Given the description of an element on the screen output the (x, y) to click on. 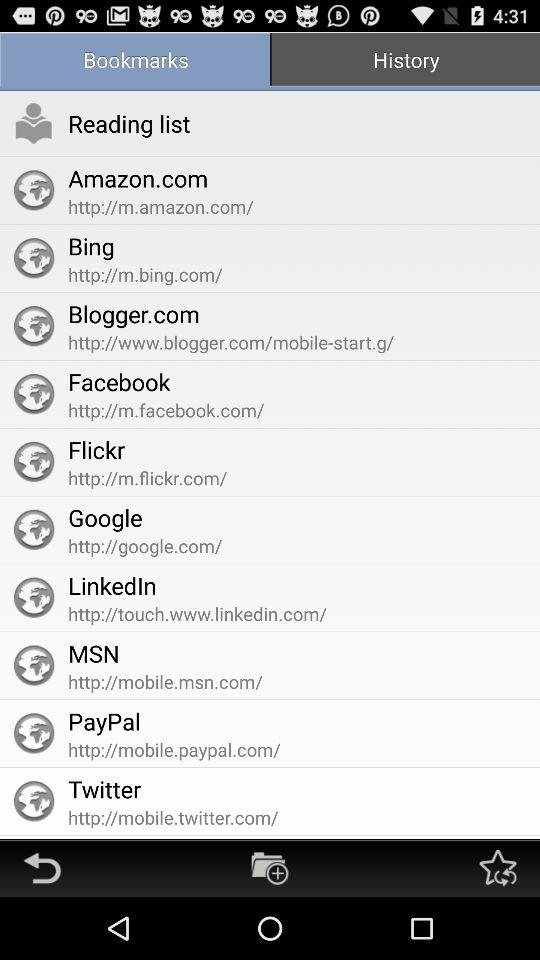
tap the reading list item (129, 123)
